Given the description of an element on the screen output the (x, y) to click on. 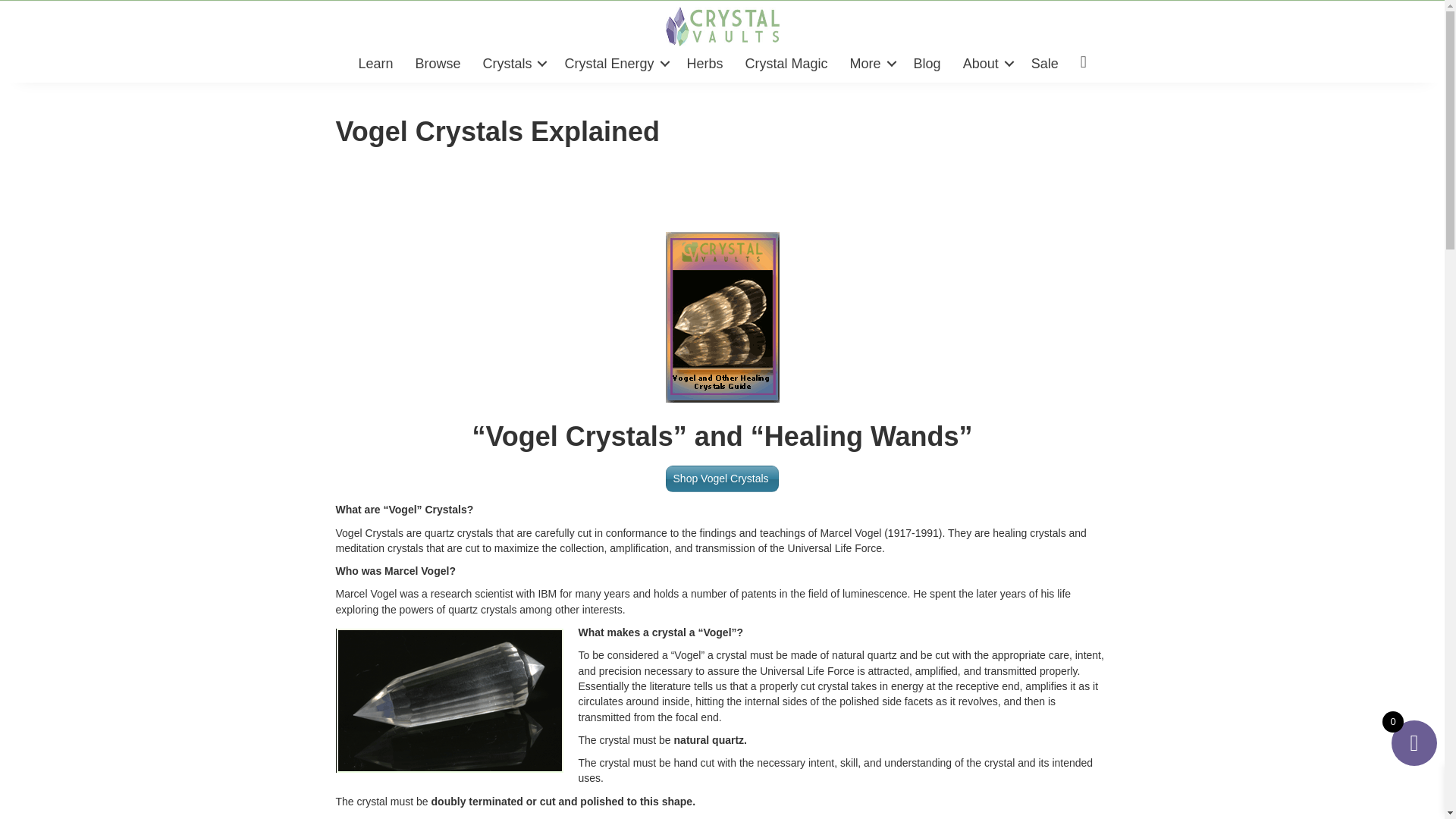
Blog (927, 63)
Crystals (512, 63)
Browse (437, 63)
Crystal Magic (786, 63)
Learn (375, 63)
Crystal Energy (614, 63)
More (871, 63)
Herbs (705, 63)
cv-logo-for-web (721, 25)
About (986, 63)
